Given the description of an element on the screen output the (x, y) to click on. 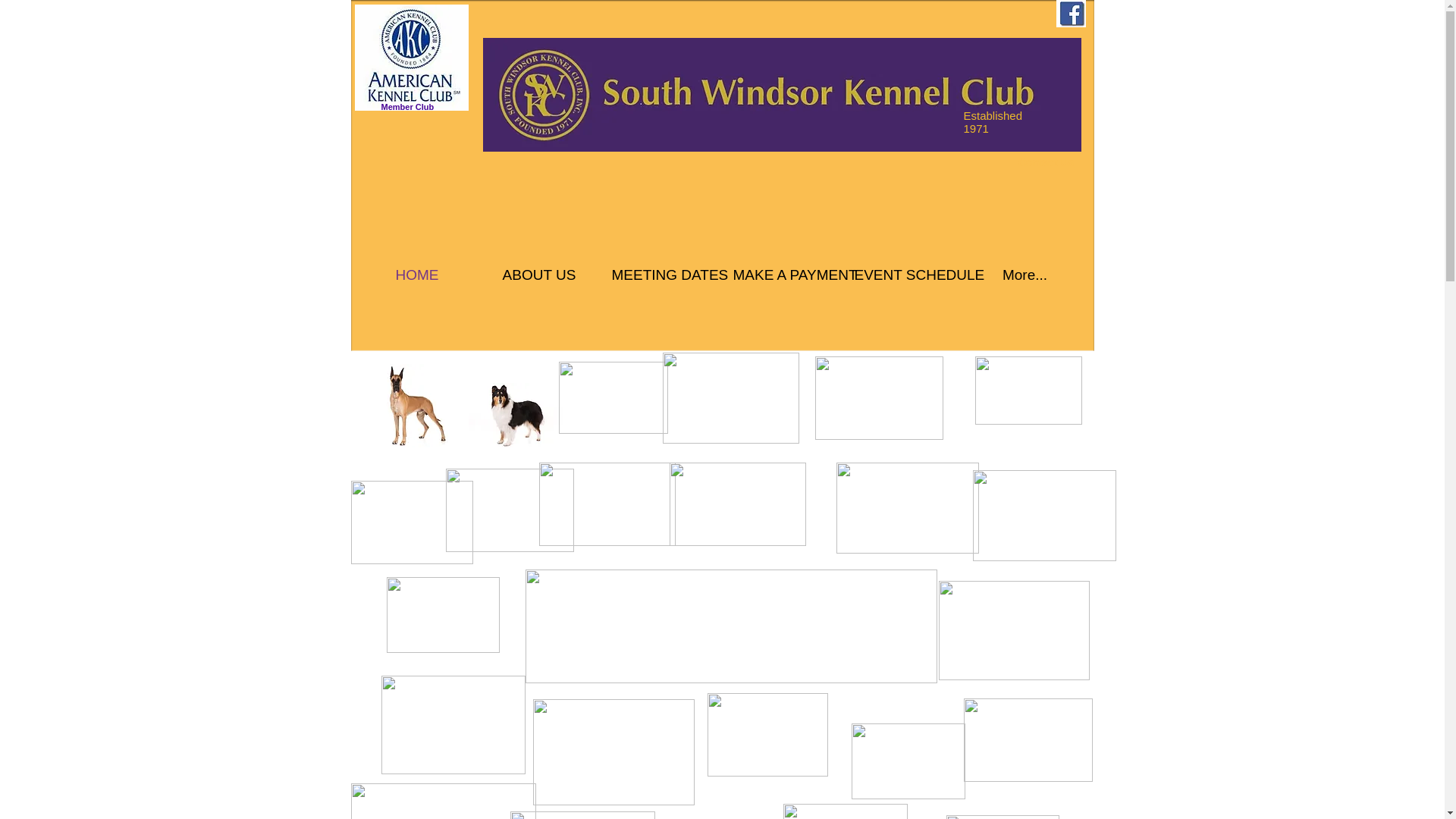
MEETING DATES (660, 275)
MAKE A PAYMENT (782, 275)
EVENT SCHEDULE (903, 275)
HOME (417, 275)
Contact Us (1045, 162)
ABOUT US (538, 275)
